Given the description of an element on the screen output the (x, y) to click on. 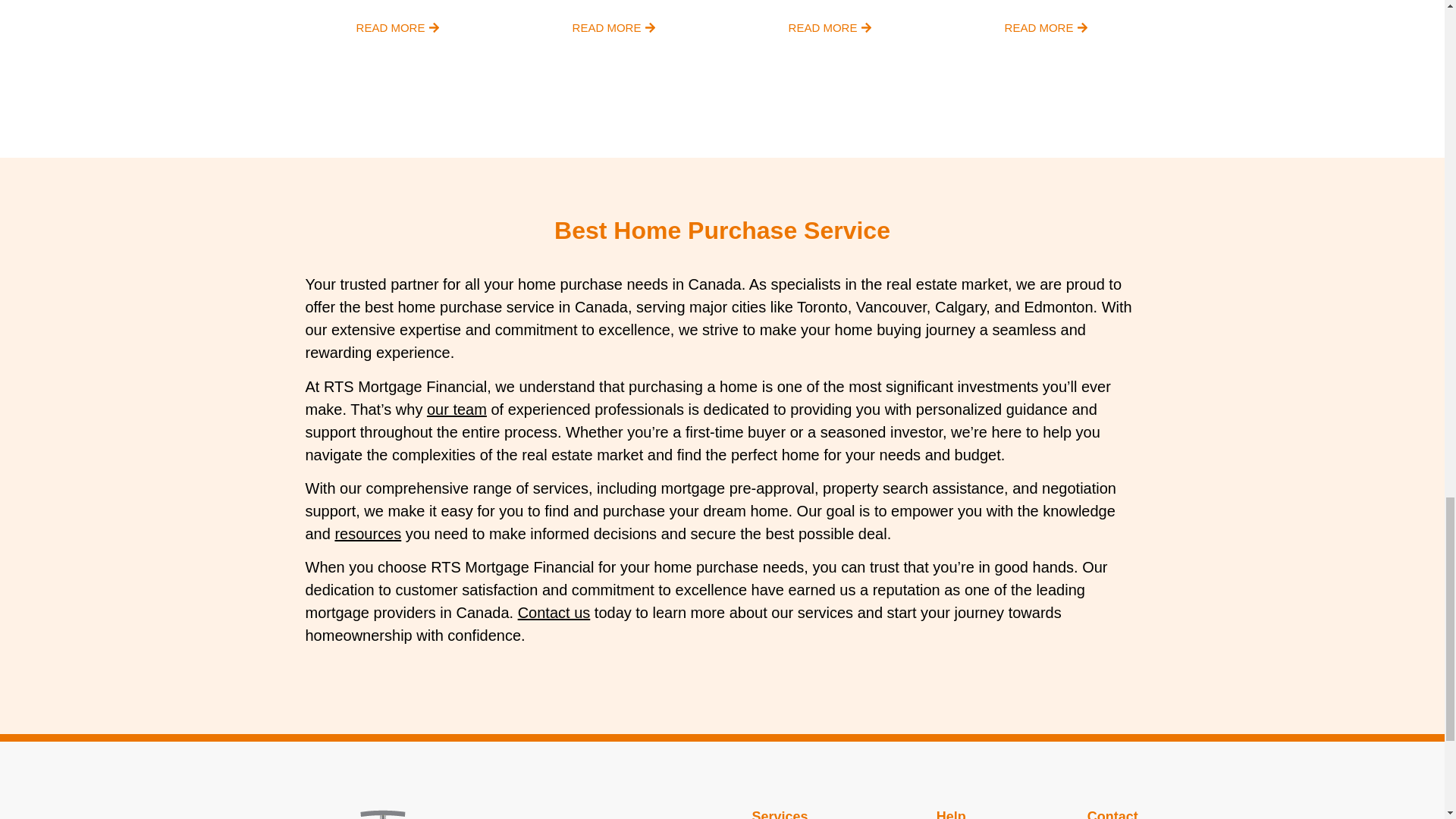
resources (367, 533)
our team (456, 409)
READ MORE (614, 28)
READ MORE (1046, 28)
READ MORE (830, 28)
READ MORE (397, 28)
Contact us (554, 612)
